Given the description of an element on the screen output the (x, y) to click on. 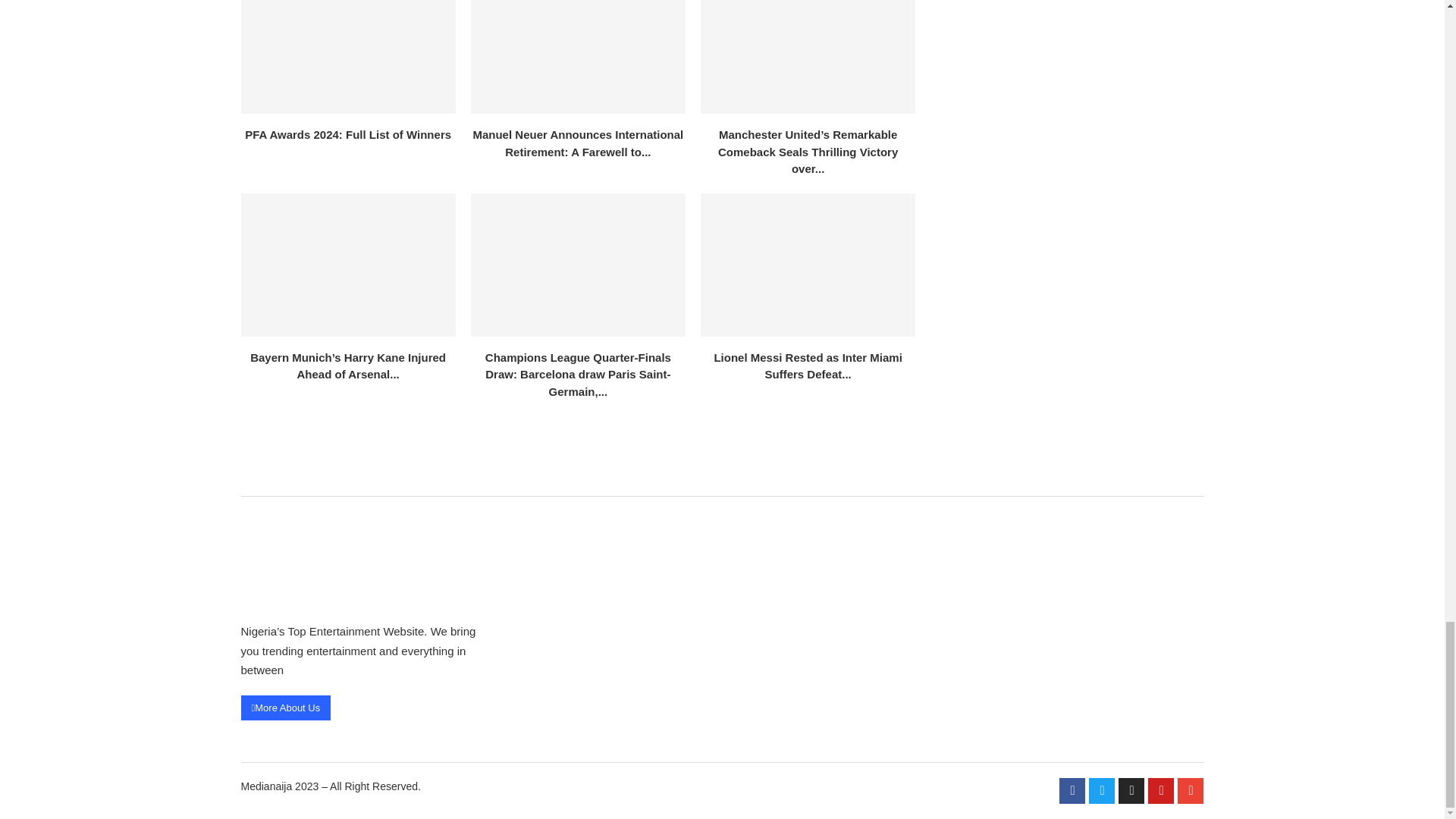
PFA Awards 2024: Full List of Winners (348, 57)
